Given the description of an element on the screen output the (x, y) to click on. 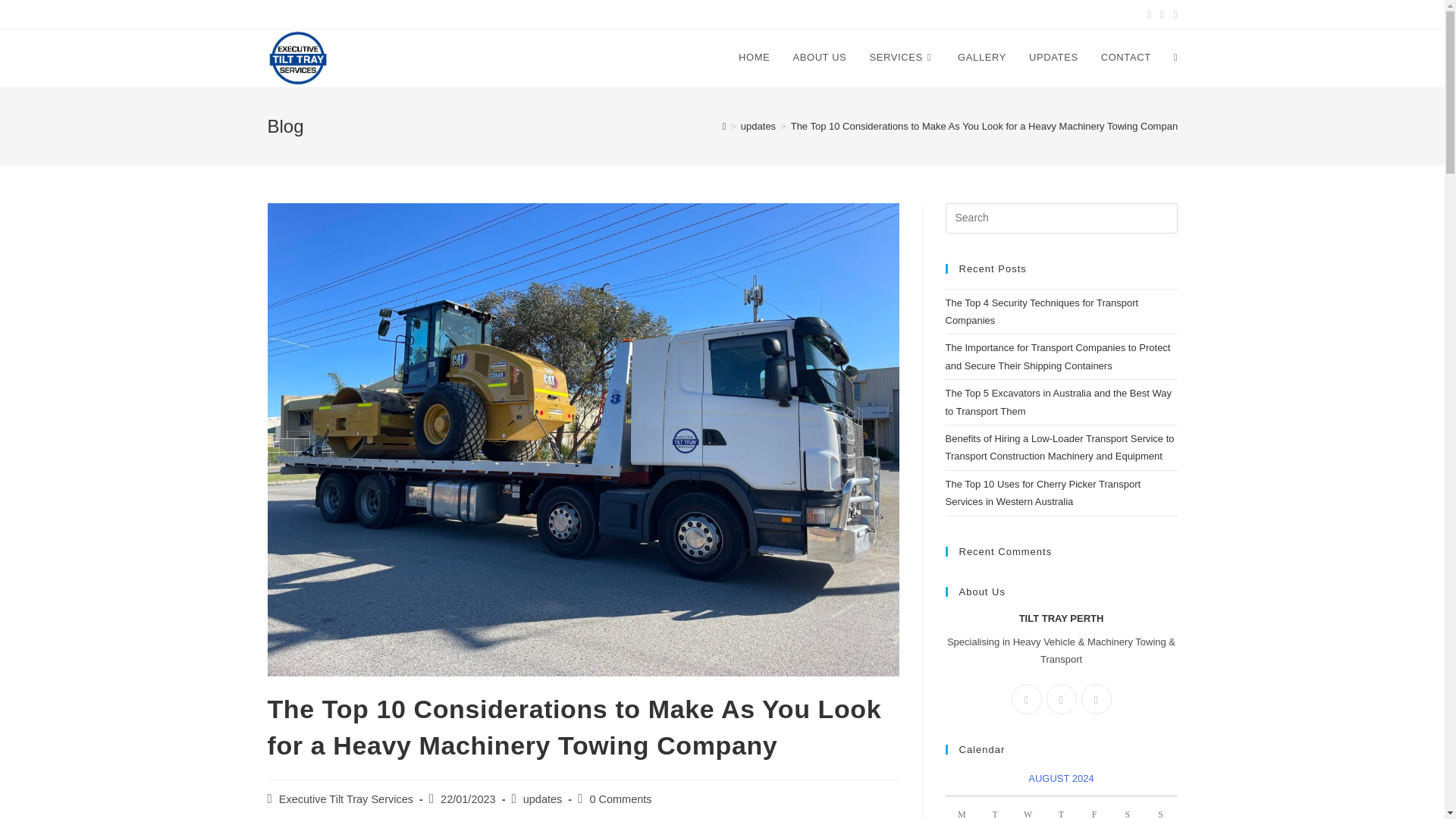
Executive Tilt Tray Services (346, 799)
Posts by Executive Tilt Tray Services (346, 799)
Tuesday (994, 807)
HOME (753, 57)
Monday (961, 807)
updates (758, 125)
CONTACT (1125, 57)
Wednesday (1028, 807)
Saturday (1127, 807)
UPDATES (1053, 57)
GALLERY (981, 57)
ABOUT US (818, 57)
Sunday (1160, 807)
Thursday (1061, 807)
